Given the description of an element on the screen output the (x, y) to click on. 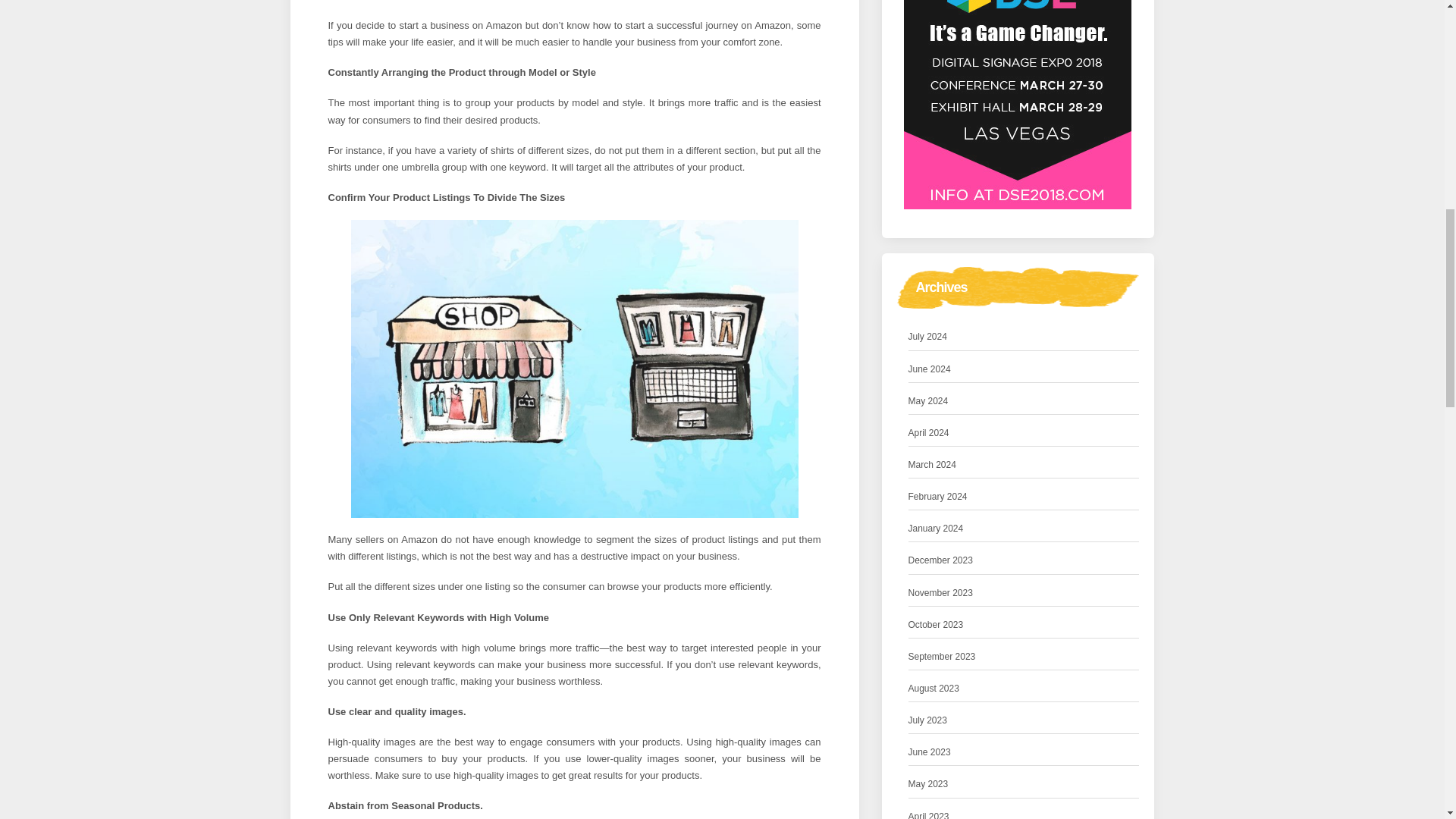
June 2023 (929, 752)
October 2023 (935, 625)
March 2024 (932, 465)
December 2023 (940, 560)
May 2024 (928, 401)
June 2024 (929, 369)
April 2023 (928, 814)
August 2023 (933, 688)
July 2023 (927, 720)
November 2023 (940, 593)
February 2024 (938, 496)
May 2023 (928, 784)
January 2024 (935, 528)
April 2024 (928, 433)
July 2024 (927, 336)
